Given the description of an element on the screen output the (x, y) to click on. 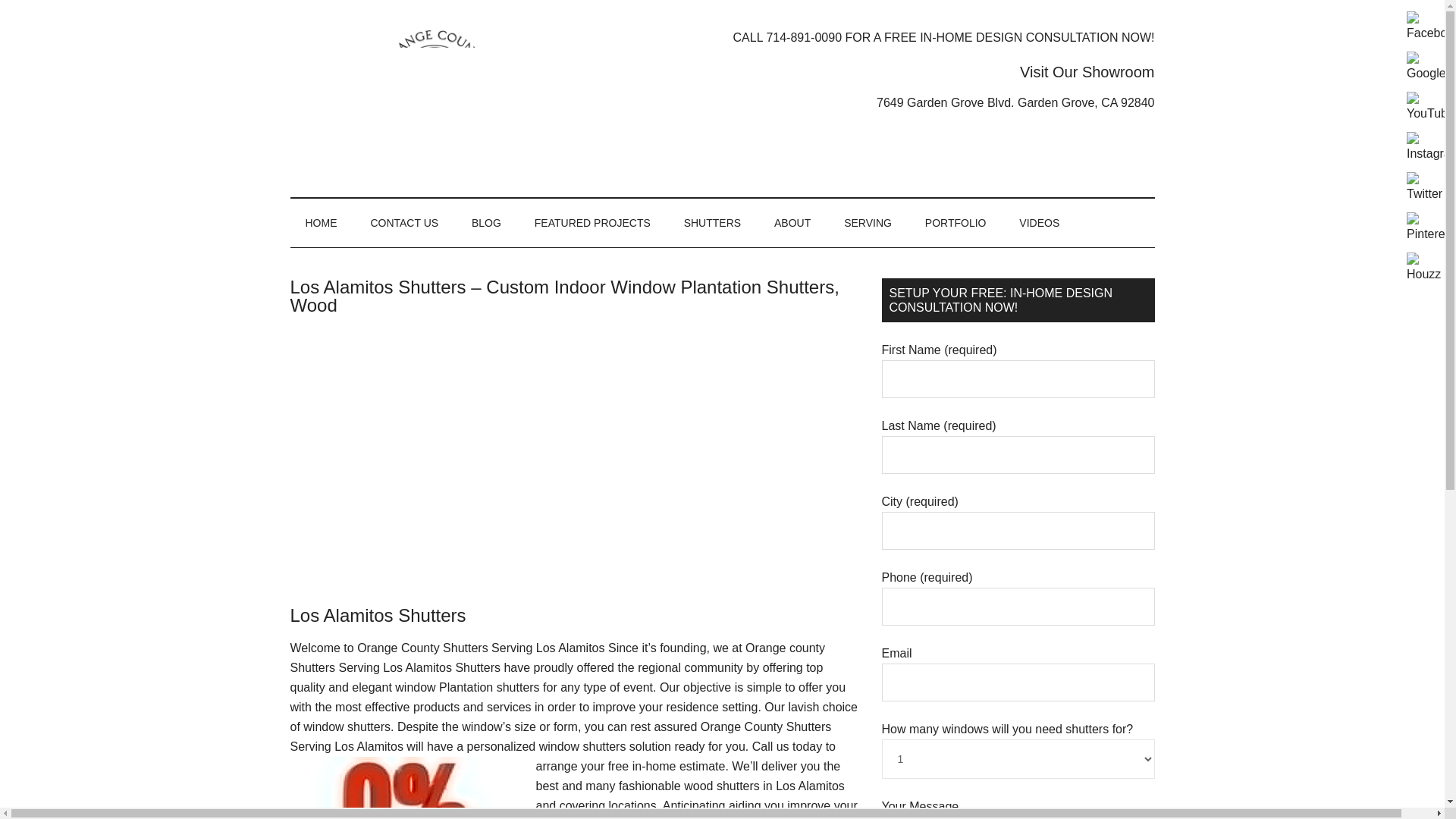
SERVING (867, 223)
BLOG (486, 223)
Twitter (1424, 187)
PORTFOLIO (955, 223)
VIDEOS (1039, 223)
ABOUT (791, 223)
Houzz (1423, 268)
SHUTTERS (711, 223)
Orange County Shutters (433, 98)
7649 Garden Grove Blvd. Garden Grove, CA 92840 (878, 103)
